Given the description of an element on the screen output the (x, y) to click on. 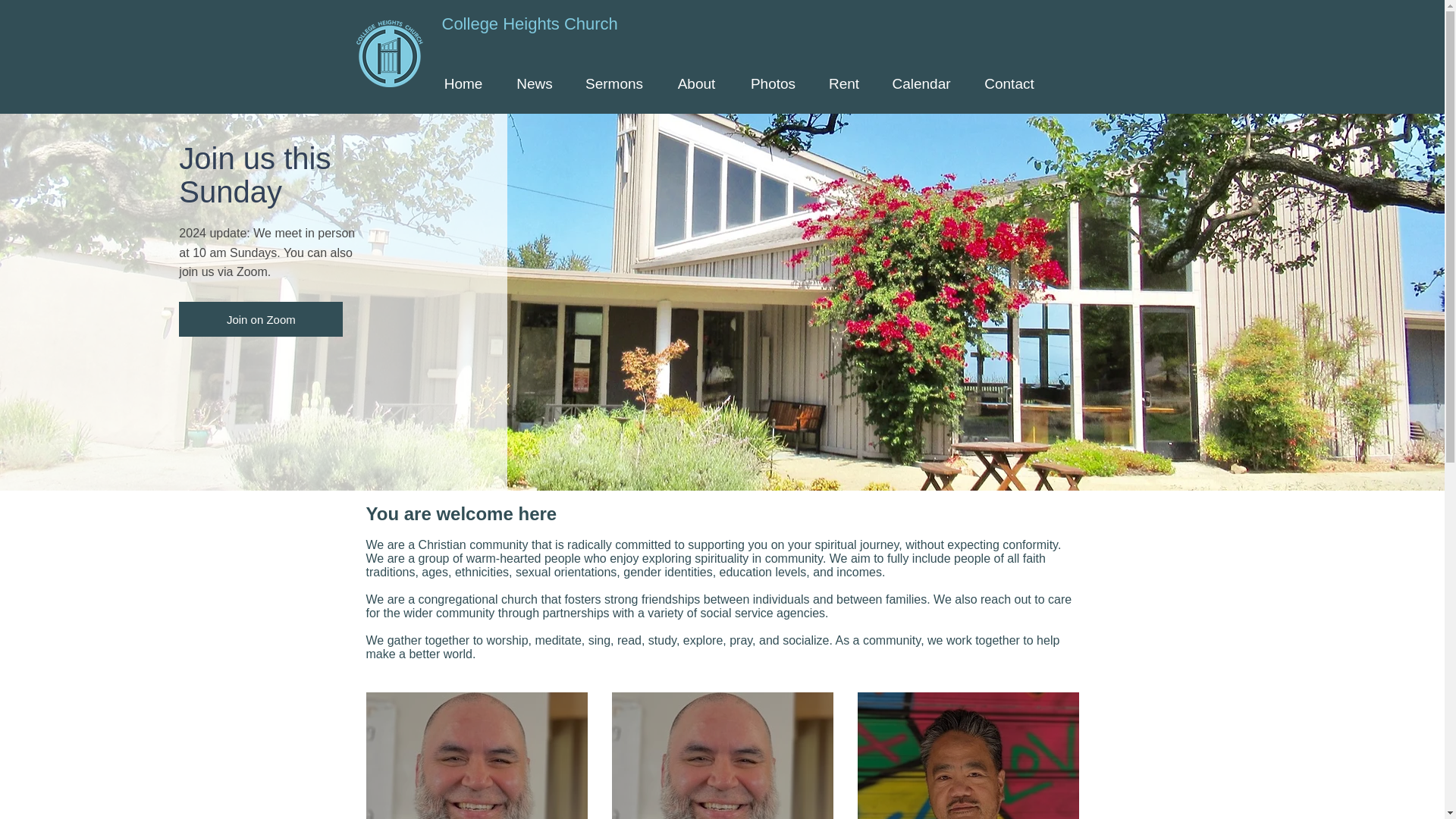
Join on Zoom (260, 319)
Calendar (920, 83)
About (696, 83)
Contact (1009, 83)
Rent (844, 83)
Photos (772, 83)
News (534, 83)
Sermons (614, 83)
Home (462, 83)
